Given the description of an element on the screen output the (x, y) to click on. 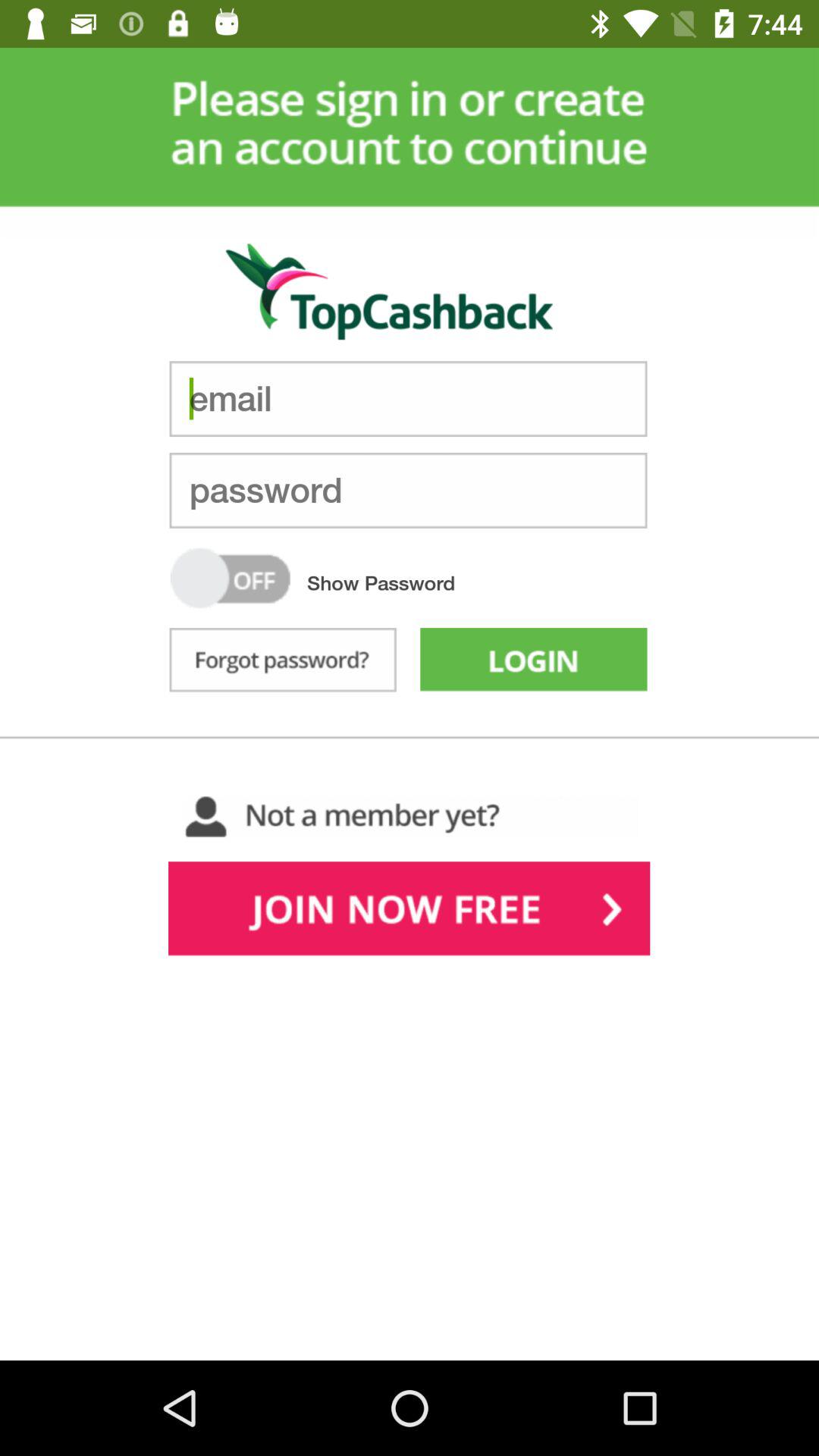
receive new password (282, 662)
